Given the description of an element on the screen output the (x, y) to click on. 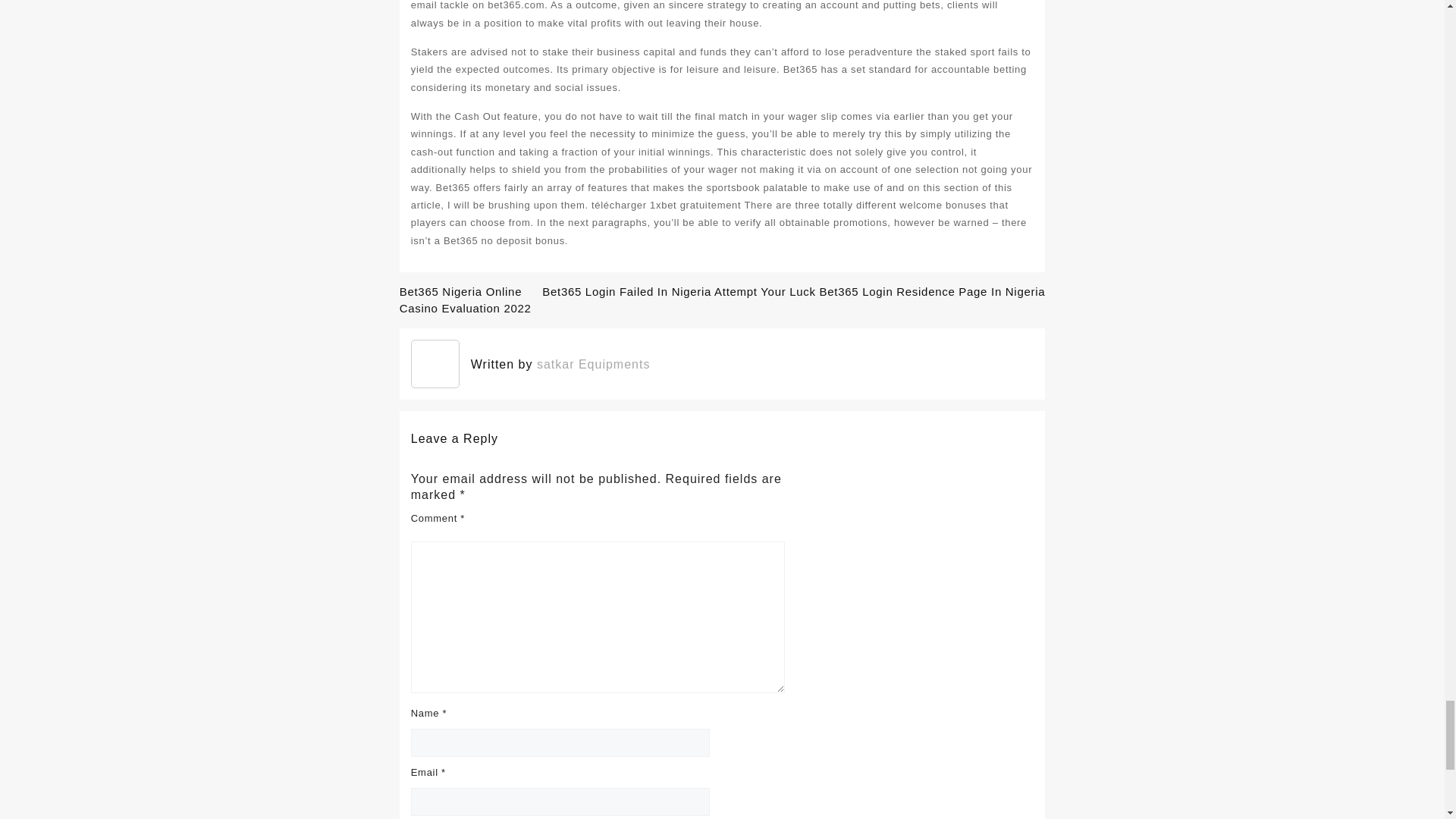
Posts by satkar Equipments (593, 364)
